Given the description of an element on the screen output the (x, y) to click on. 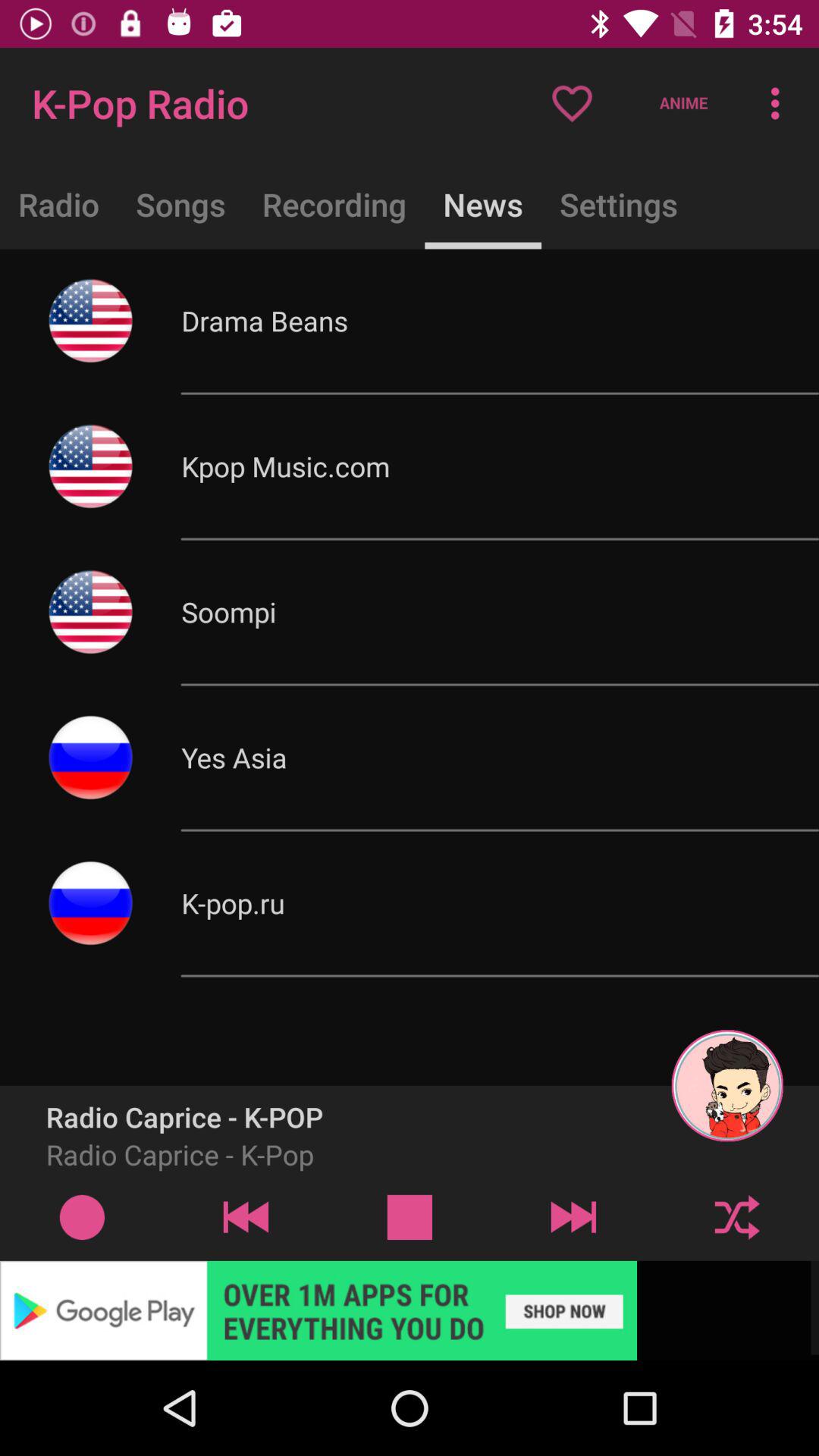
advertisement (409, 1310)
